Given the description of an element on the screen output the (x, y) to click on. 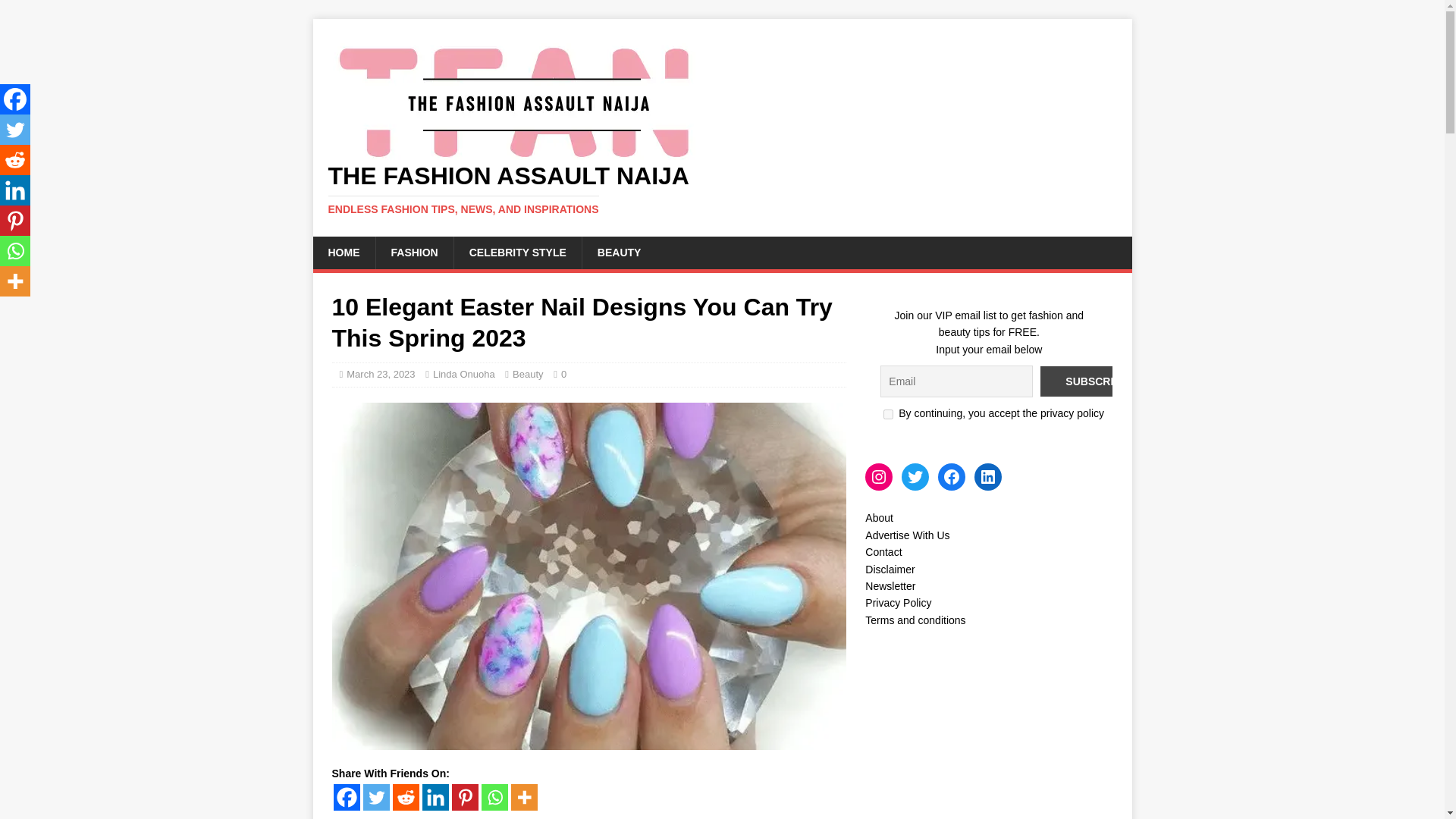
BEAUTY (618, 252)
The Fashion Assault Naija (721, 189)
on (888, 414)
More (524, 796)
March 23, 2023 (380, 374)
Linda Onuoha (463, 374)
Subscribe (1097, 381)
Beauty (527, 374)
Linkedin (435, 796)
CELEBRITY STYLE (516, 252)
Whatsapp (493, 796)
Facebook (346, 796)
Reddit (406, 796)
